Given the description of an element on the screen output the (x, y) to click on. 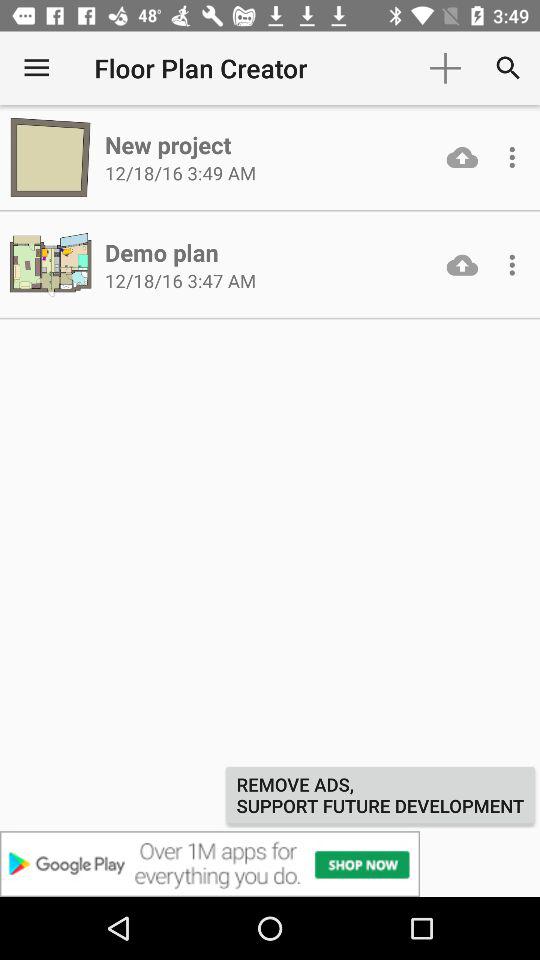
download new project (462, 157)
